Given the description of an element on the screen output the (x, y) to click on. 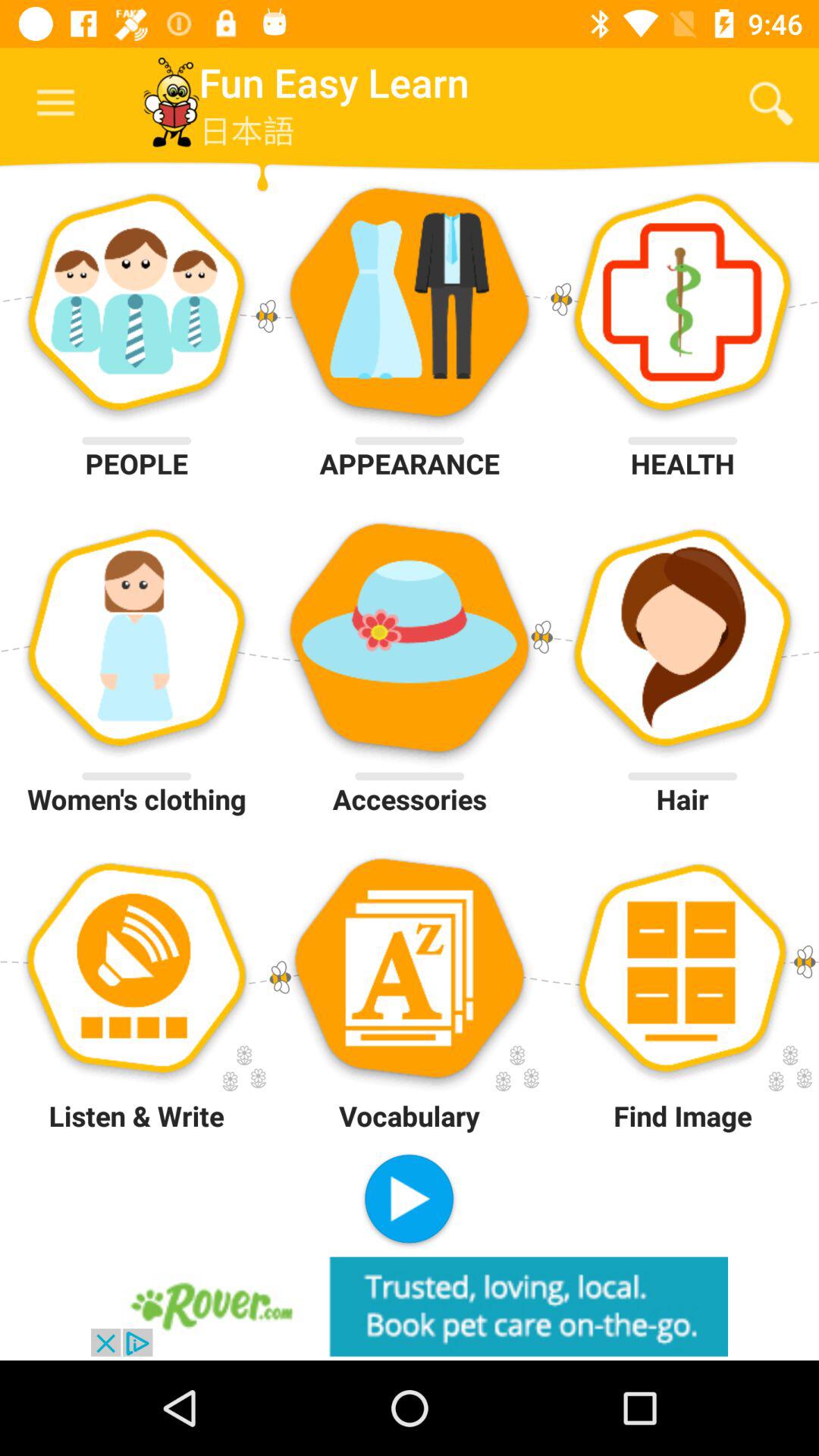
turn on icon to the right of the fun easy learn item (771, 103)
